Given the description of an element on the screen output the (x, y) to click on. 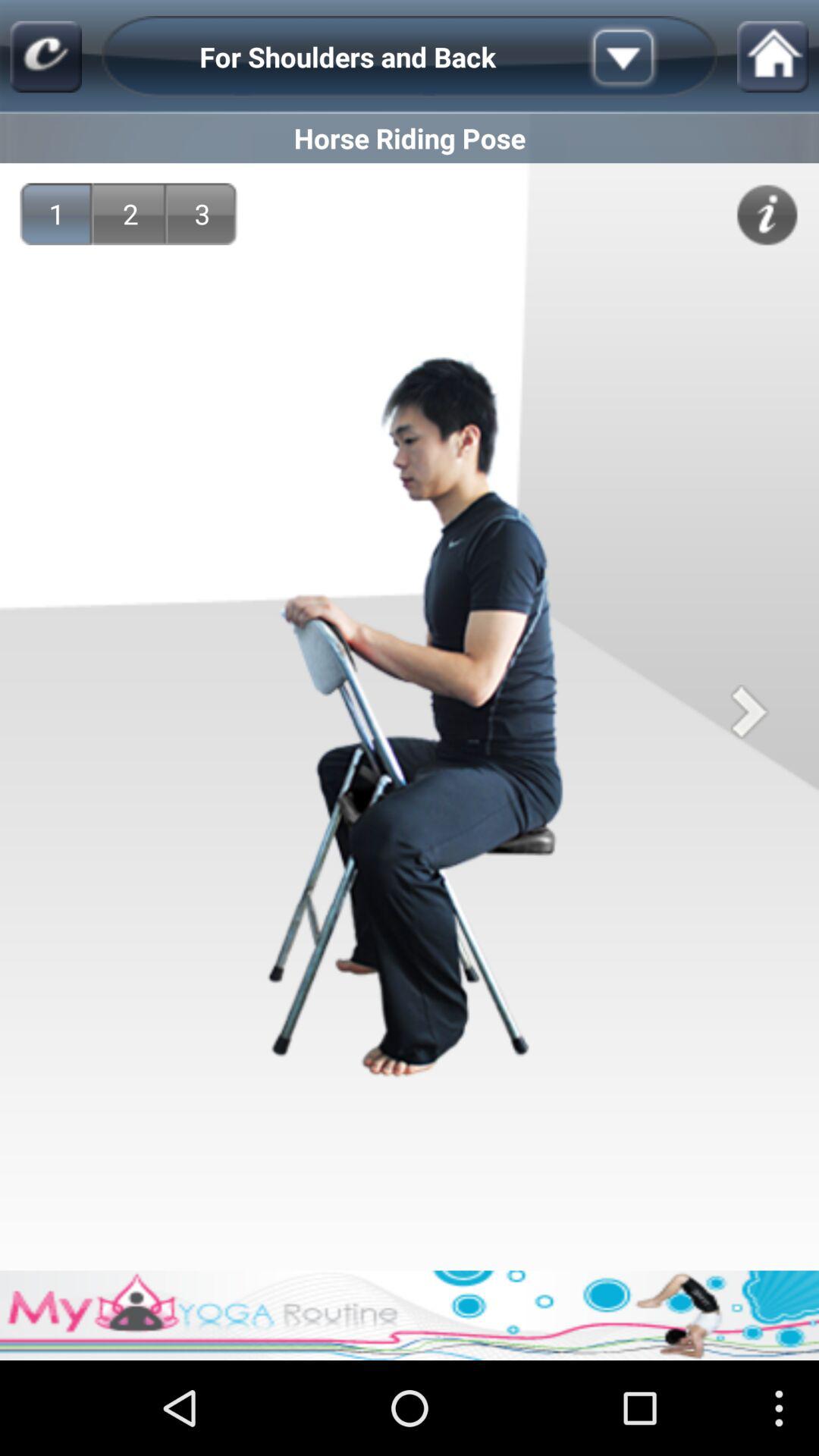
more information (646, 56)
